Given the description of an element on the screen output the (x, y) to click on. 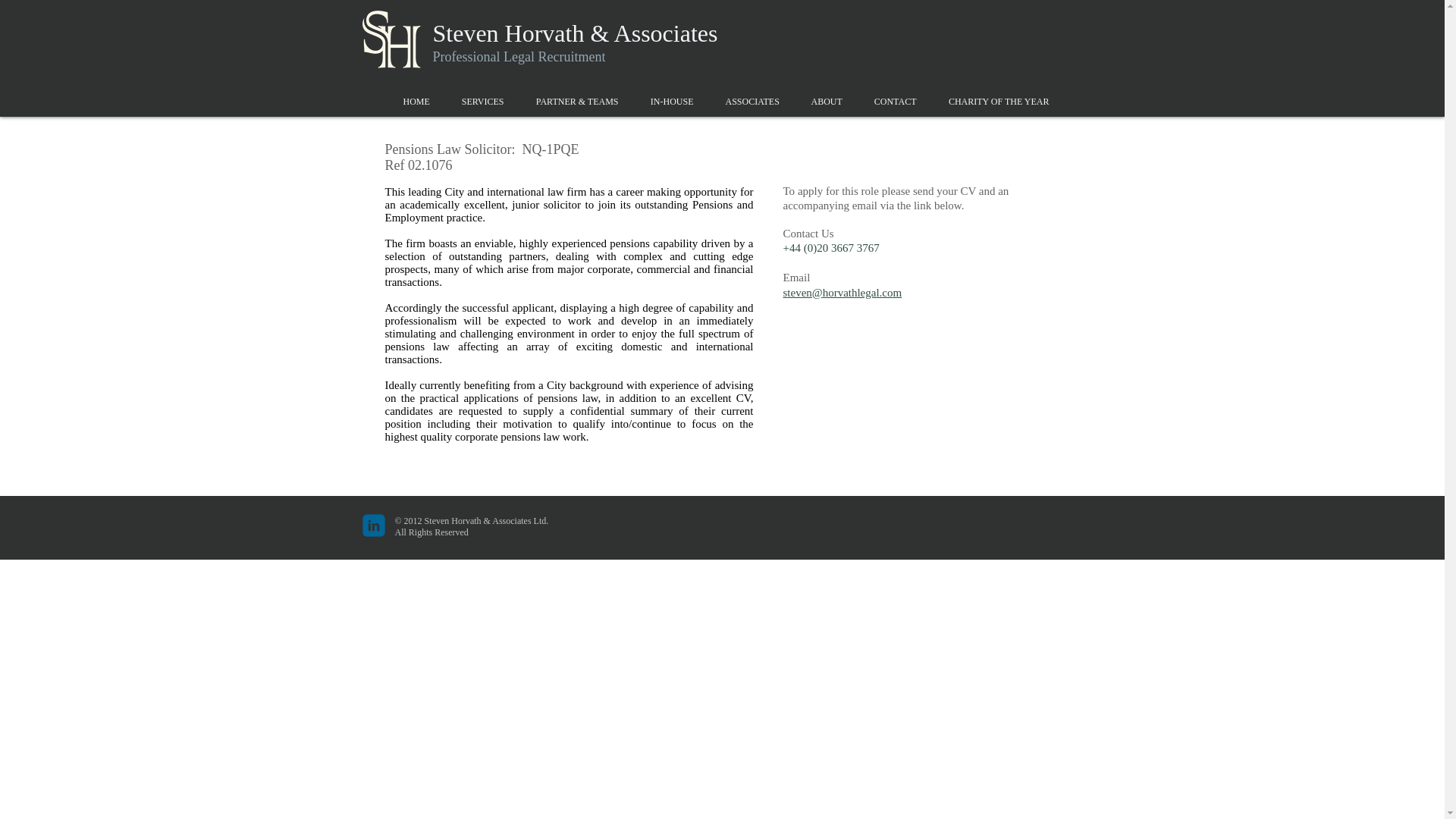
To (788, 191)
CHARITY OF THE YEAR (999, 101)
SERVICES (482, 101)
ASSOCIATES (752, 101)
ABOUT (825, 101)
Professional Legal Recruitment (518, 56)
CONTACT (896, 101)
Steven Horvath Legal Recruitment (391, 41)
HOME (416, 101)
IN-HOUSE (671, 101)
